Given the description of an element on the screen output the (x, y) to click on. 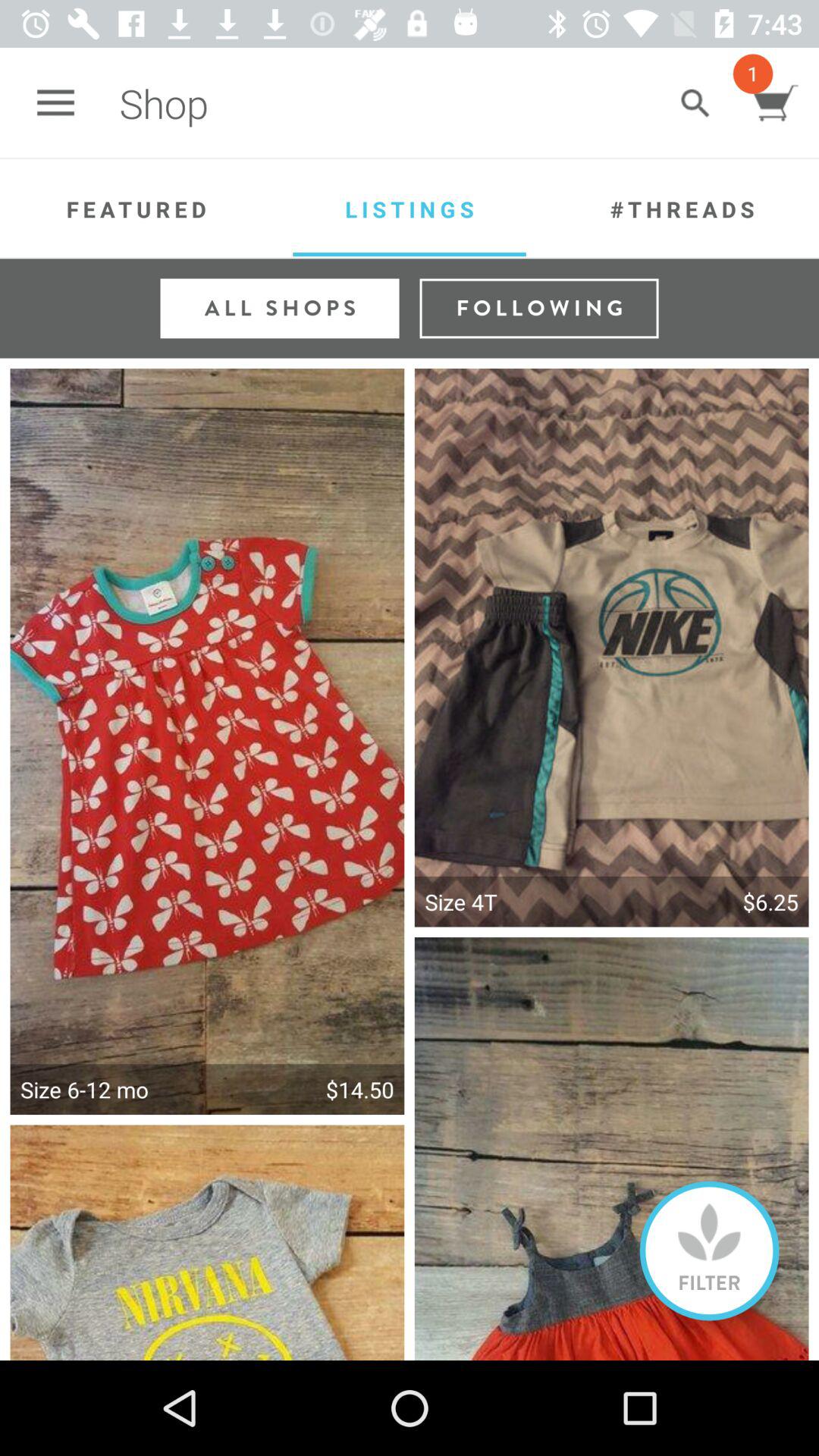
choose following (538, 308)
